Given the description of an element on the screen output the (x, y) to click on. 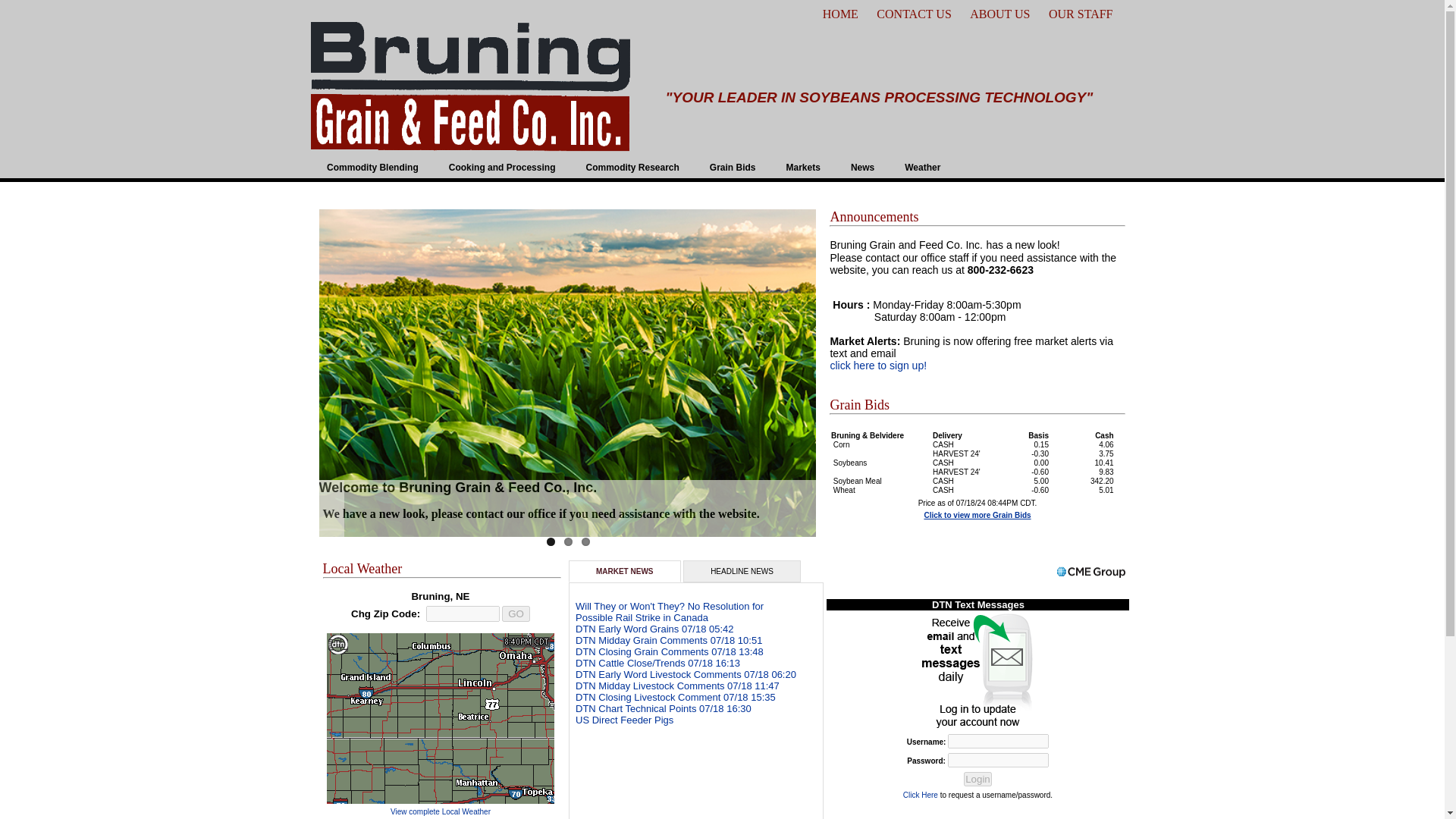
OUR STAFF (1080, 13)
Cooking and Processing (501, 167)
Grain Bids (732, 167)
Login (977, 779)
ABOUT US (999, 13)
HOME (840, 13)
News (862, 167)
Commodity Blending (372, 167)
Commodity Research (632, 167)
Markets (803, 167)
Weather (922, 167)
CONTACT US (913, 13)
